Given the description of an element on the screen output the (x, y) to click on. 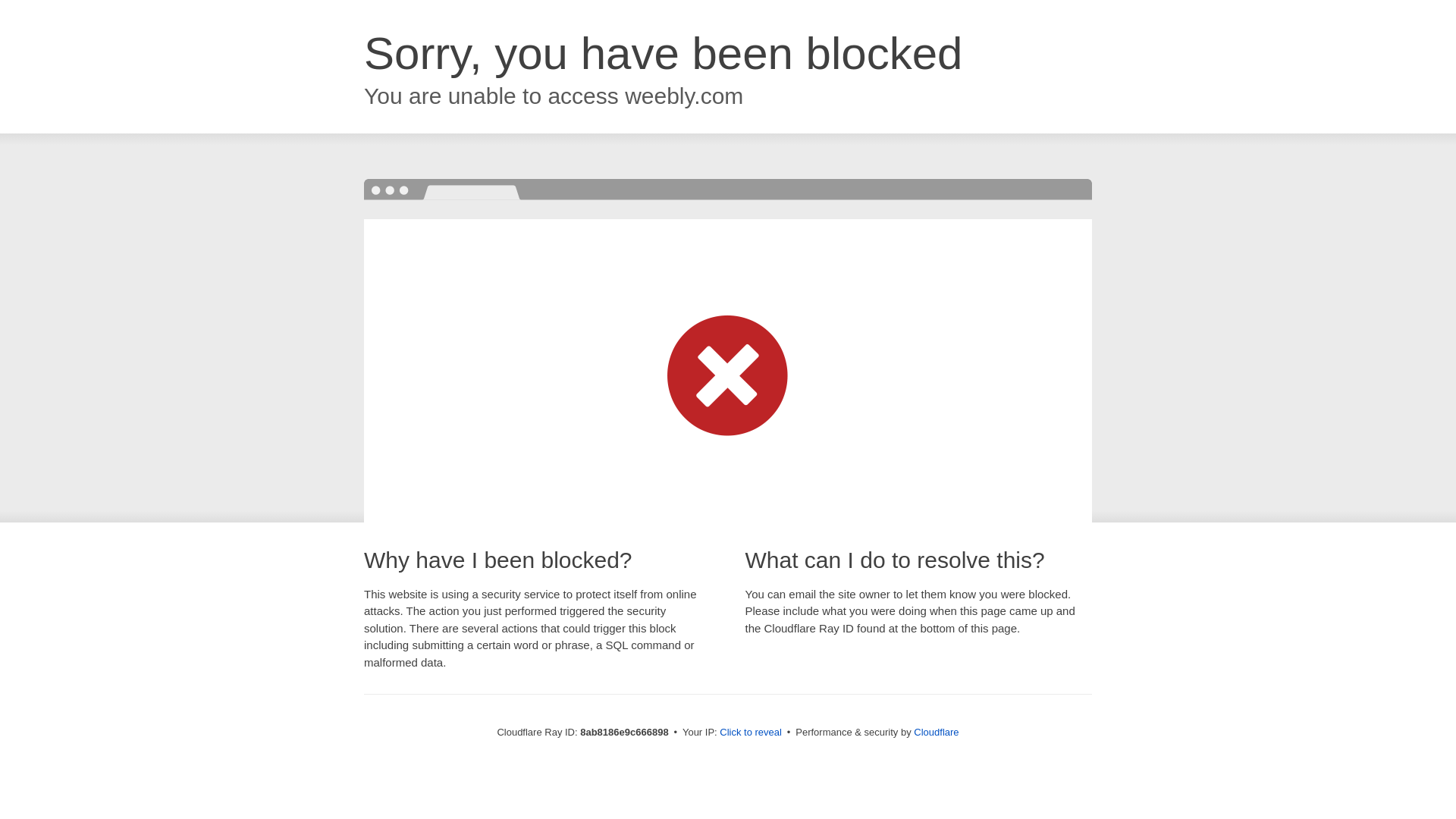
Cloudflare (936, 731)
Click to reveal (750, 732)
